Given the description of an element on the screen output the (x, y) to click on. 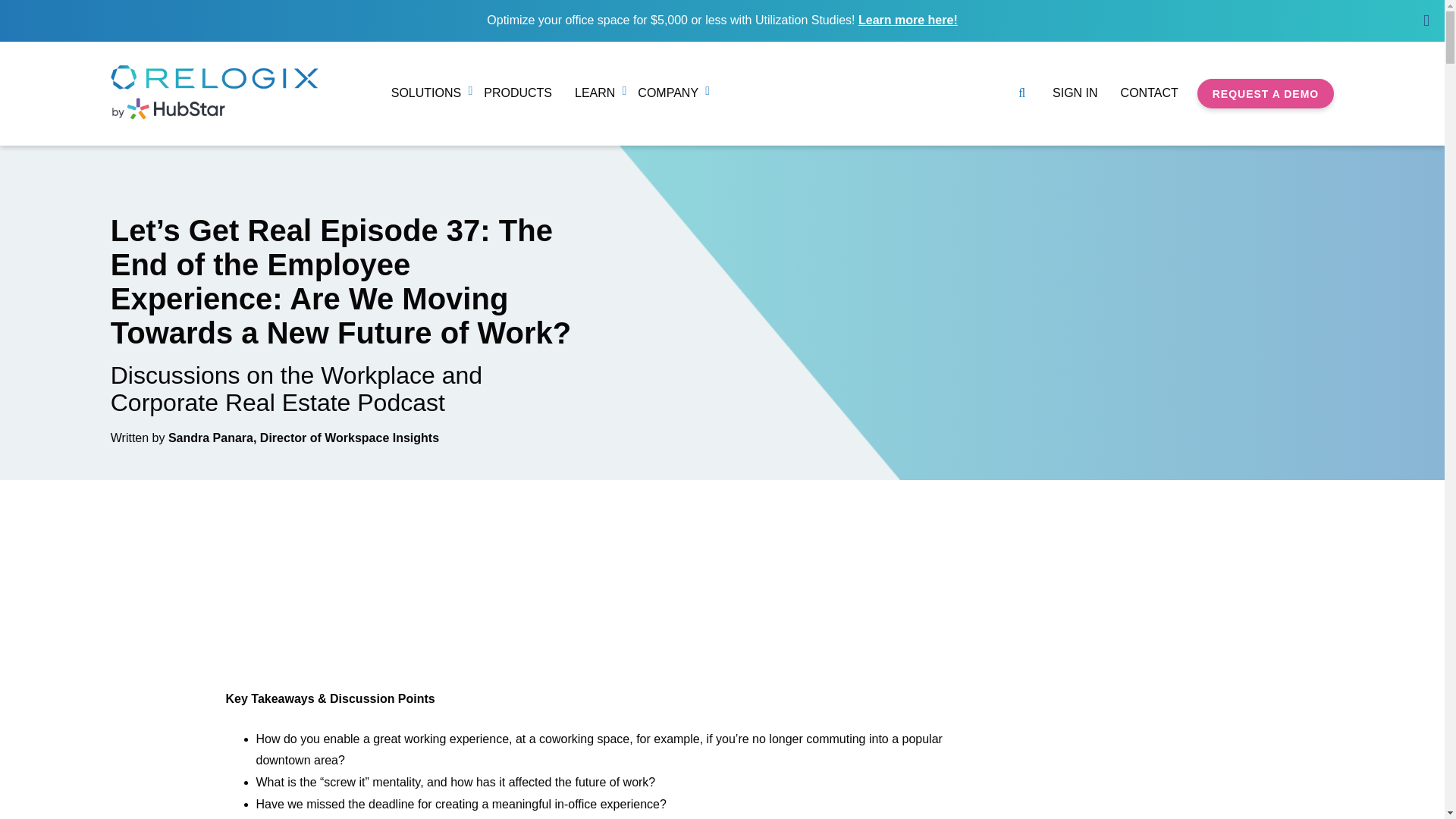
REQUEST A DEMO (1265, 93)
SIGN IN (1075, 93)
PRODUCTS (517, 93)
CONTACT (1149, 93)
Learn more here! (908, 19)
